Given the description of an element on the screen output the (x, y) to click on. 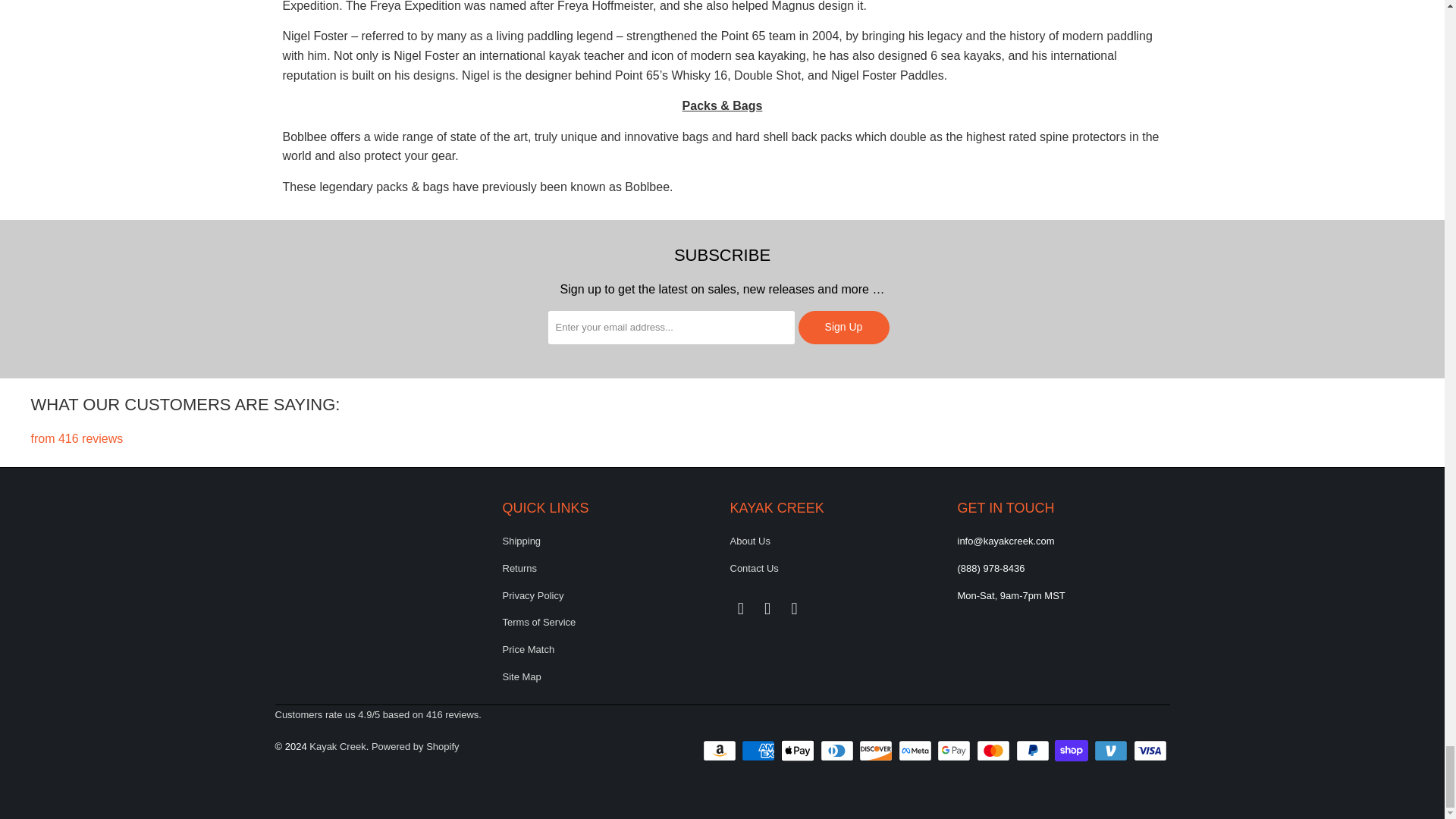
Shop Pay (1072, 750)
Kayak Creek on Facebook (740, 608)
Visa (1150, 750)
Diners Club (839, 750)
Google Pay (955, 750)
Kayak Creek on Instagram (767, 608)
Mastercard (994, 750)
Discover (877, 750)
Meta Pay (916, 750)
Email Kayak Creek (794, 608)
